Given the description of an element on the screen output the (x, y) to click on. 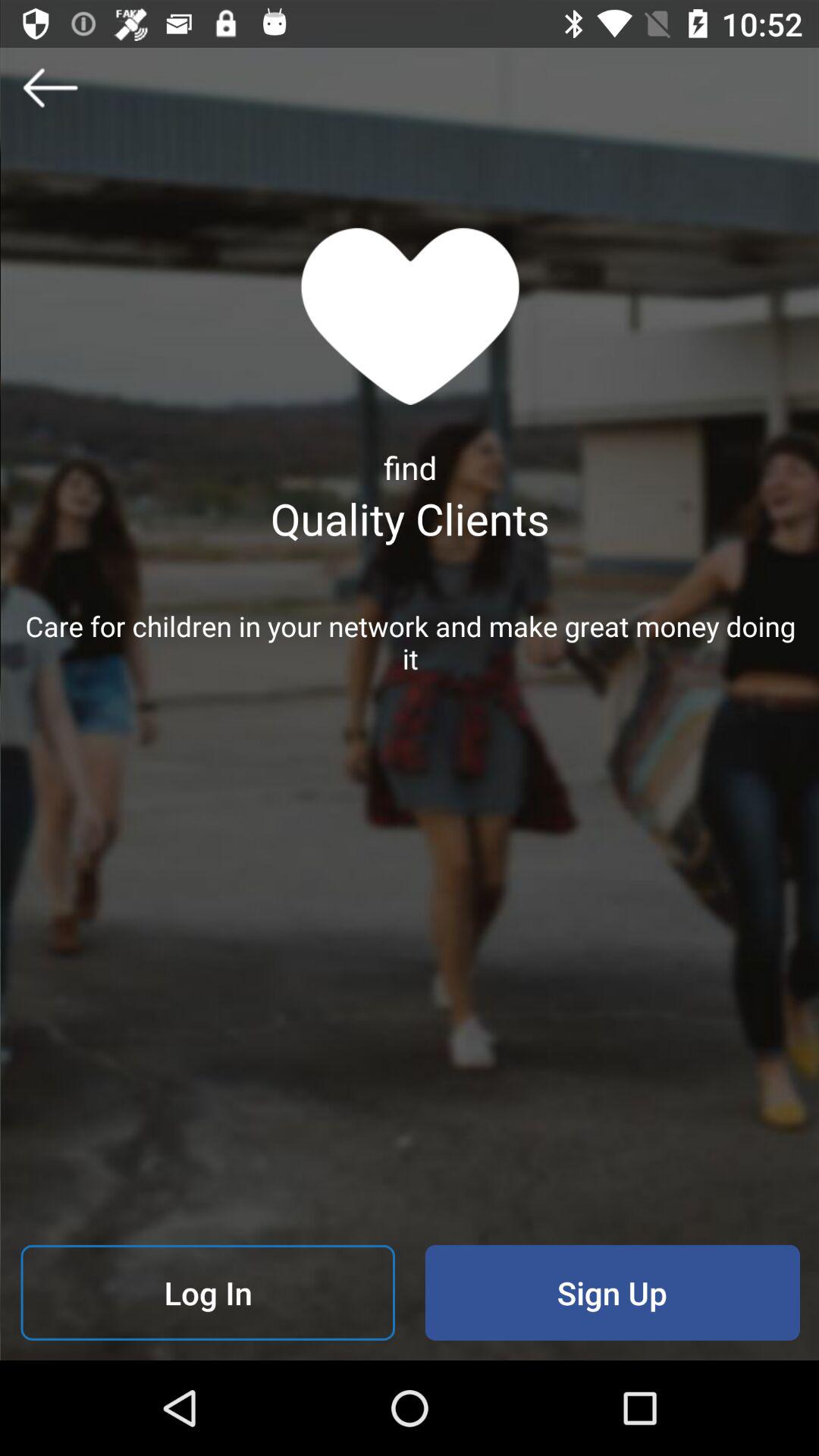
go to previous (49, 87)
